Given the description of an element on the screen output the (x, y) to click on. 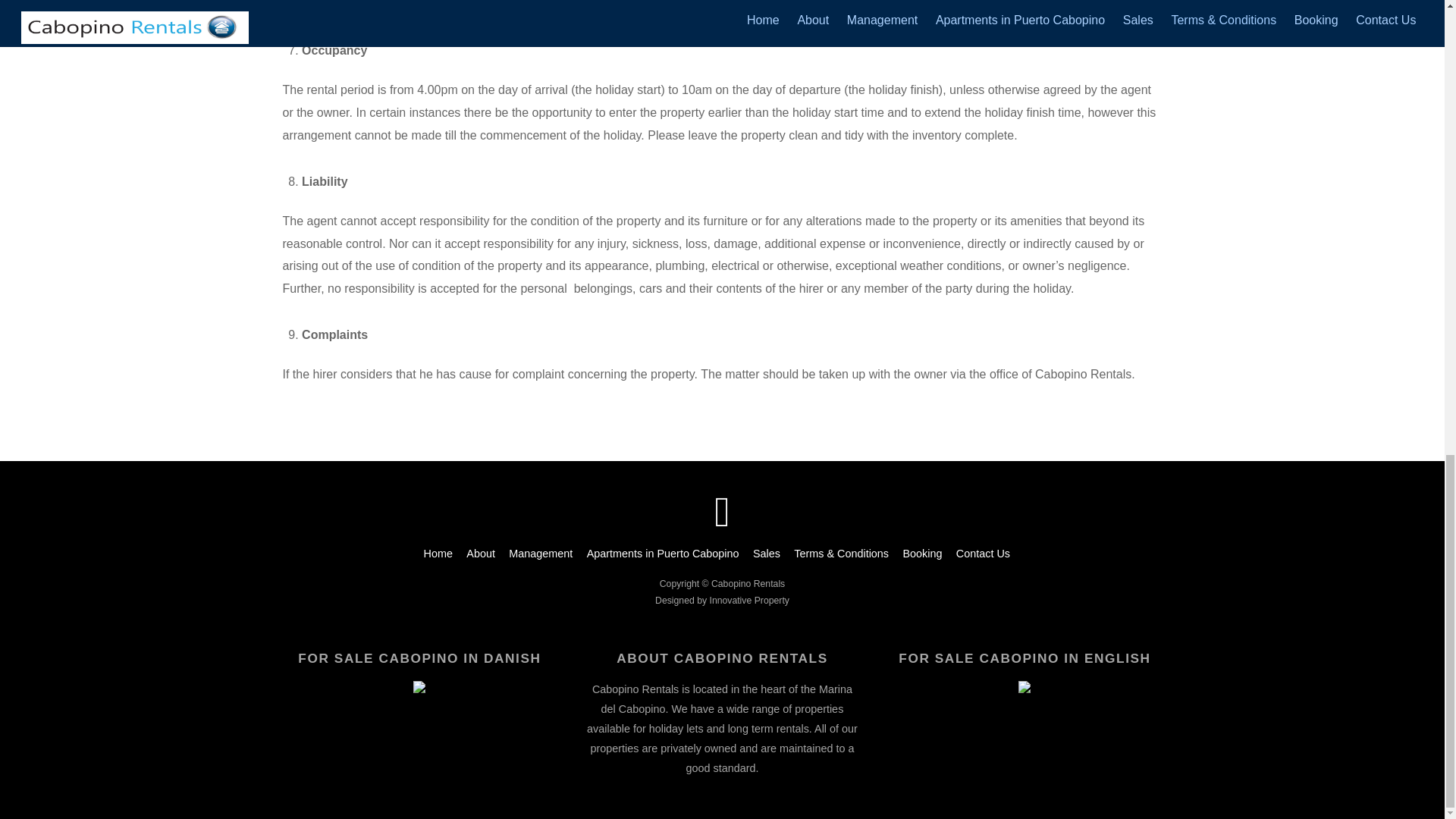
Contact Us (983, 553)
Apartments in Puerto Cabopino (662, 553)
Sales (766, 553)
About (480, 553)
Booking (922, 553)
Management (540, 553)
Home (437, 553)
